Given the description of an element on the screen output the (x, y) to click on. 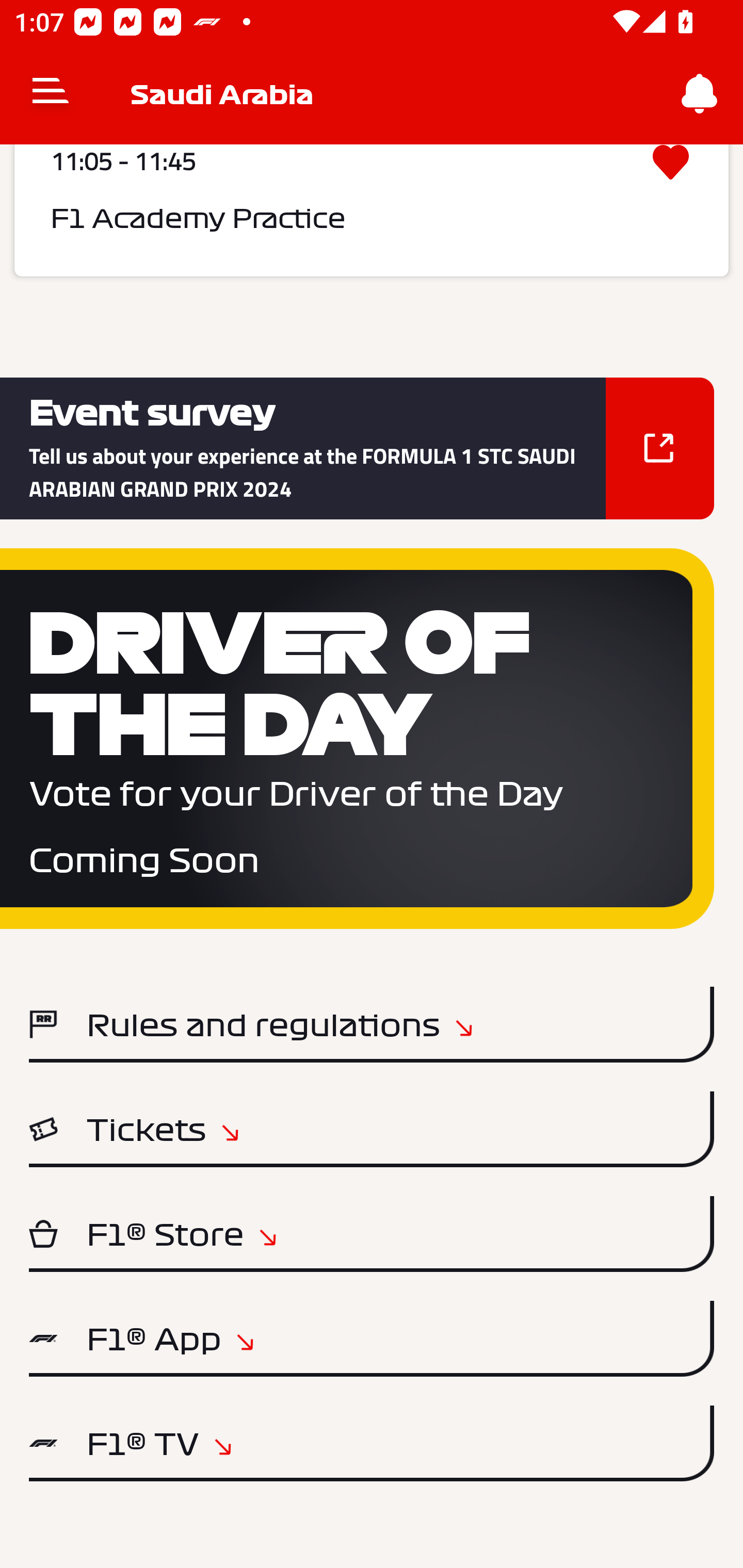
Navigate up (50, 93)
Notifications (699, 93)
11:05 - 11:45 F1 Academy Practice (371, 209)
Rules and regulations (371, 1024)
Tickets (371, 1128)
F1® Store (371, 1233)
F1® App (371, 1338)
F1® TV (371, 1442)
